Given the description of an element on the screen output the (x, y) to click on. 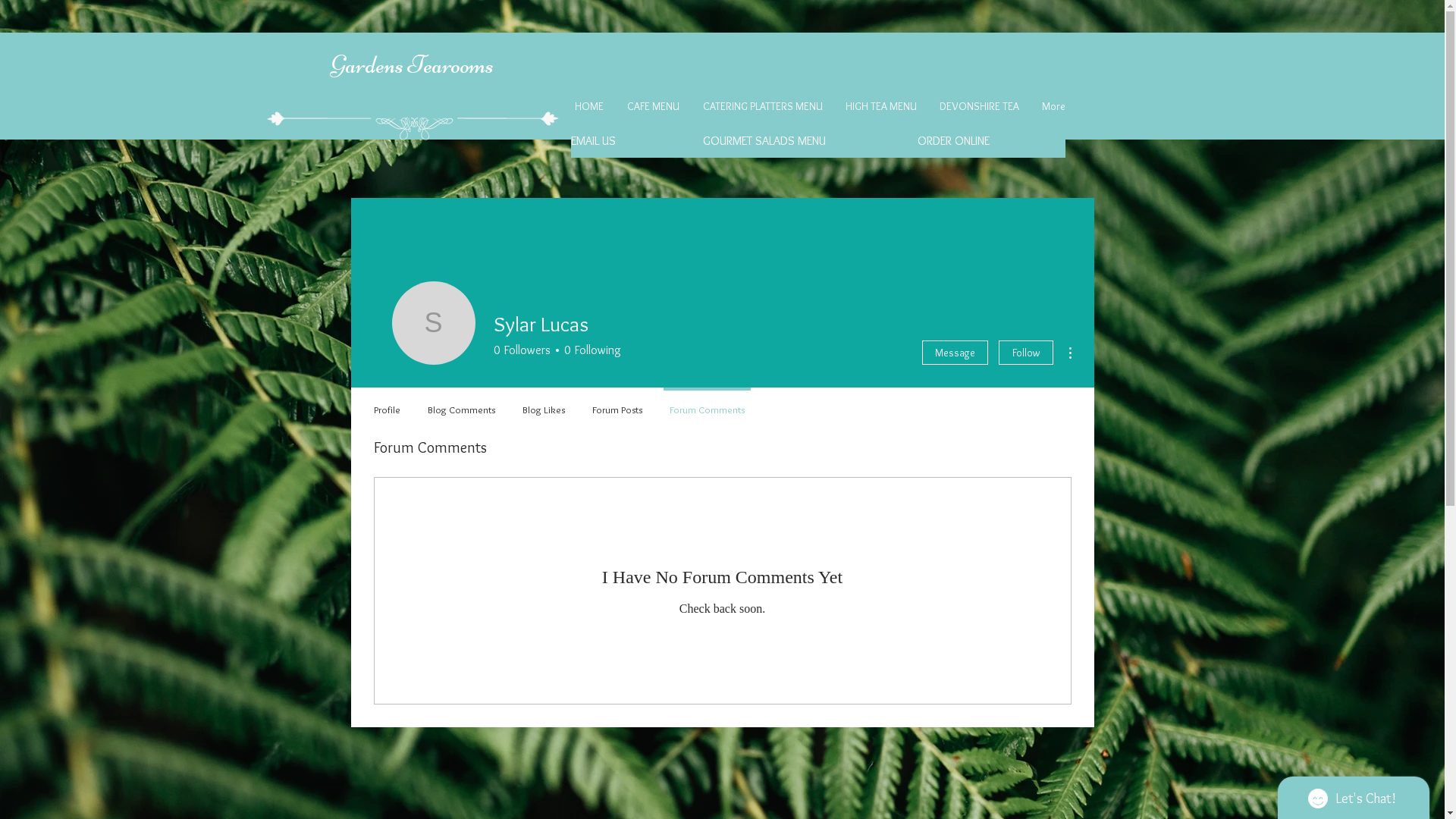
ORDER ONLINE Element type: text (952, 140)
Message Element type: text (955, 352)
EMAIL US Element type: text (631, 140)
GOURMET SALADS MENU Element type: text (764, 140)
HIGH TEA MENU Element type: text (884, 106)
0
Following Element type: text (589, 350)
Follow Element type: text (1024, 352)
HOME Element type: text (591, 106)
CATERING PLATTERS MENU Element type: text (765, 106)
Forum Comments Element type: text (706, 402)
Blog Likes Element type: text (542, 402)
DEVONSHIRE TEA Element type: text (982, 106)
Gardens Tearooms Element type: text (411, 64)
Profile Element type: text (386, 402)
Forum Posts Element type: text (616, 402)
Blog Comments Element type: text (461, 402)
CAFE MENU Element type: text (656, 106)
0
Followers Element type: text (520, 350)
